Given the description of an element on the screen output the (x, y) to click on. 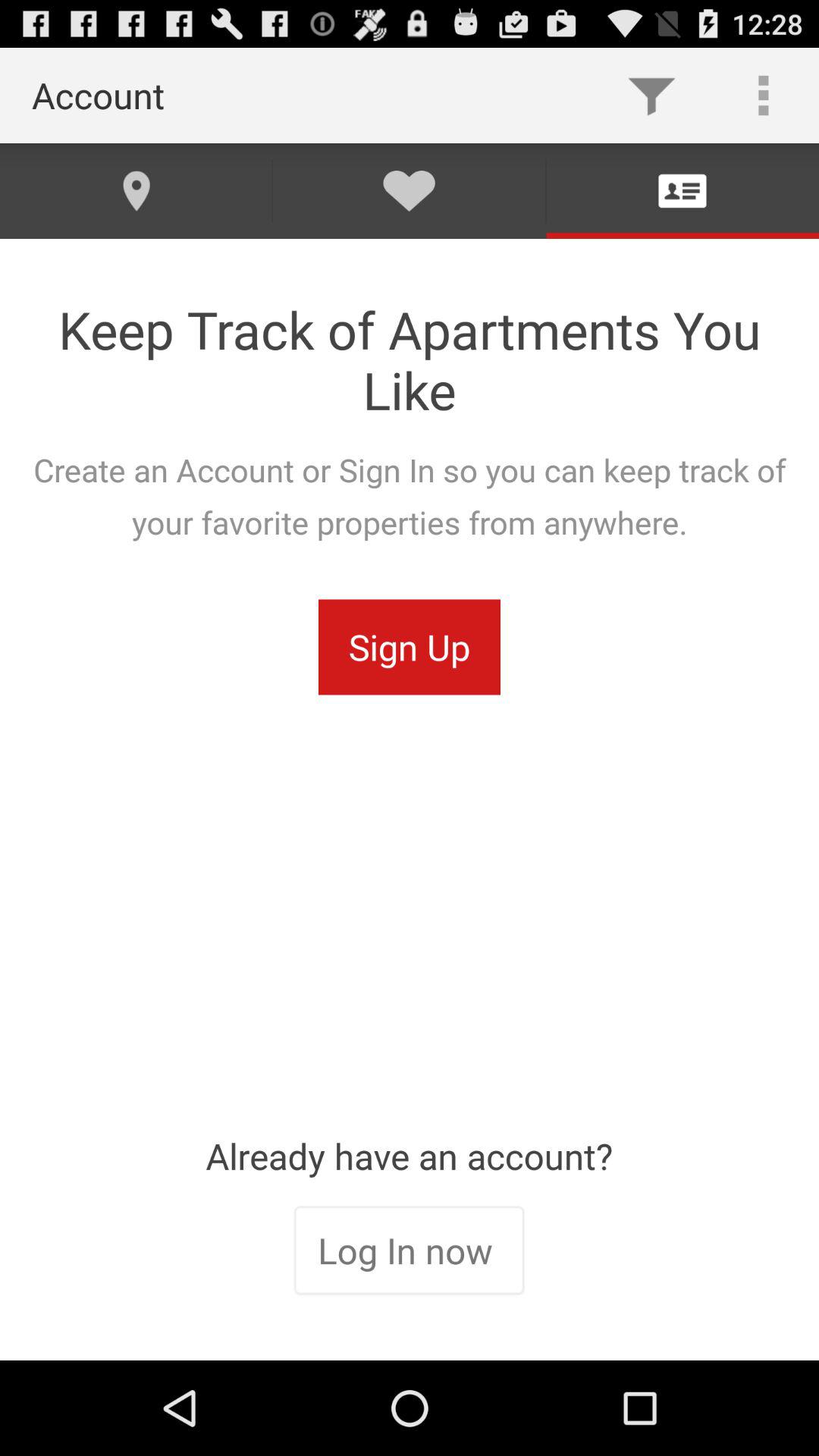
press the log in now (409, 1252)
